Given the description of an element on the screen output the (x, y) to click on. 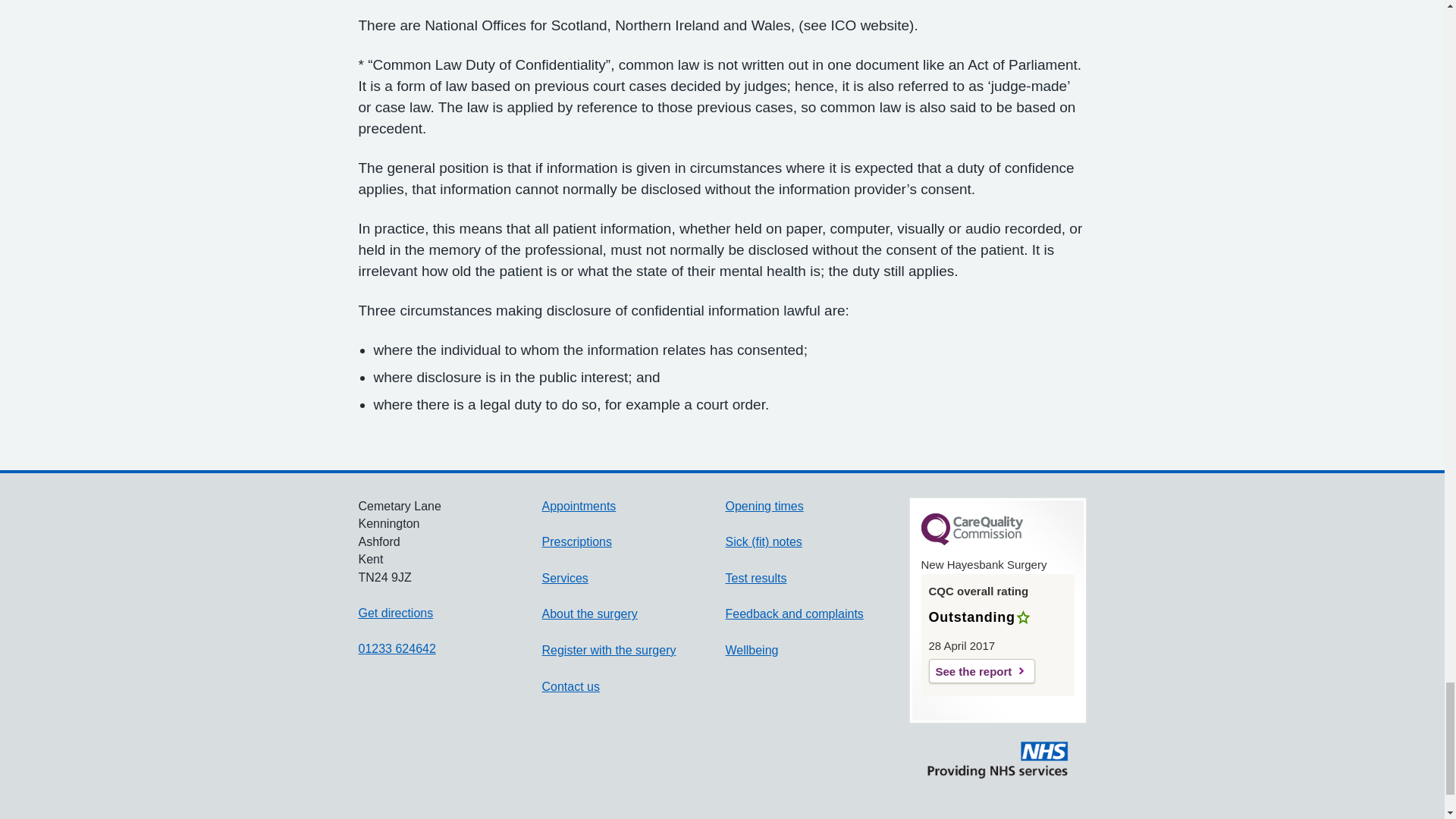
Get directions (395, 612)
CQC Logo (971, 541)
About the surgery (589, 613)
Services (564, 577)
01233 624642 (396, 648)
Register with the surgery (608, 649)
Appointments (578, 505)
Contact us (569, 686)
Prescriptions (576, 541)
Test results (755, 577)
